Given the description of an element on the screen output the (x, y) to click on. 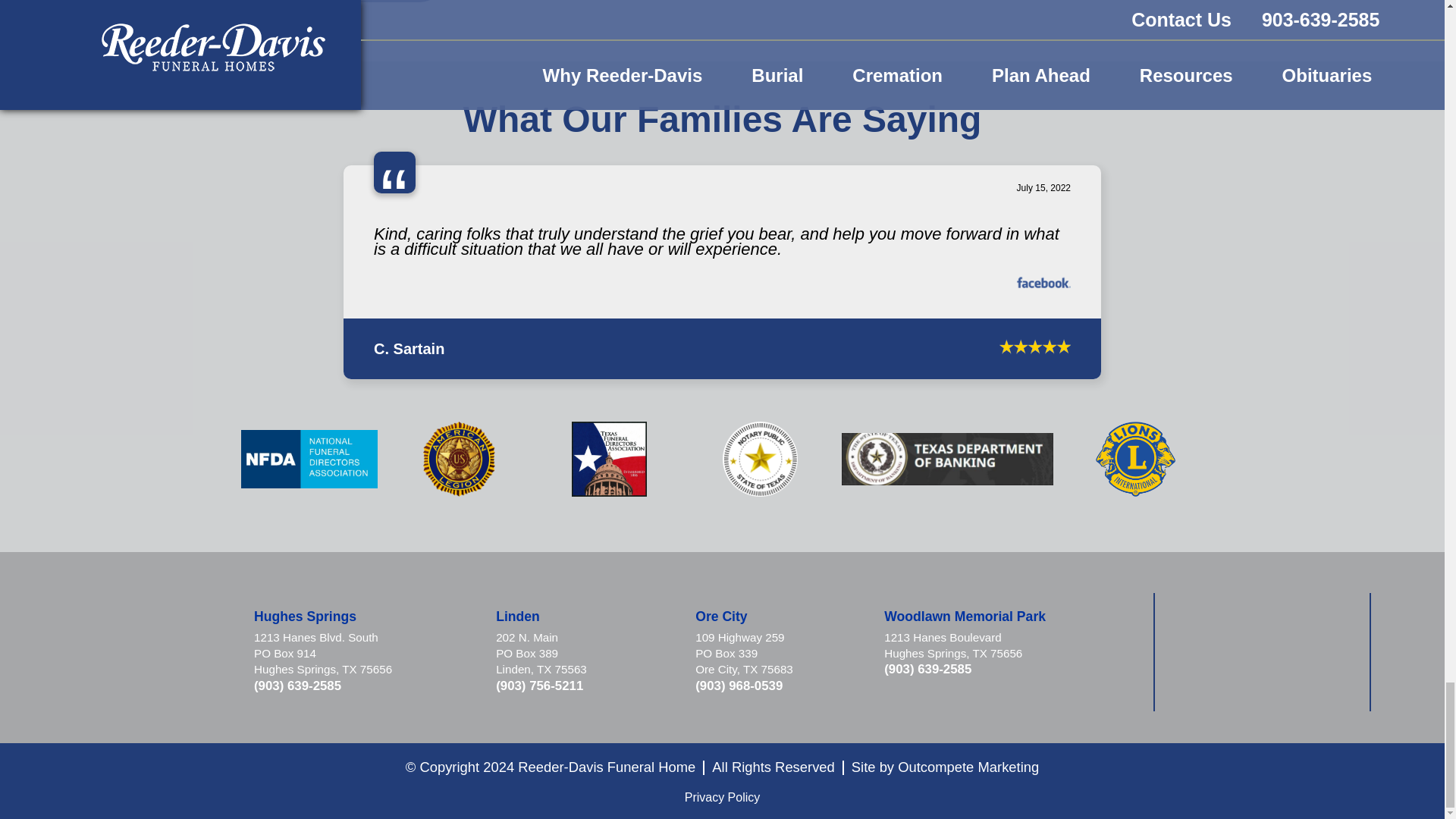
Post Your Entry (348, 1)
